Given the description of an element on the screen output the (x, y) to click on. 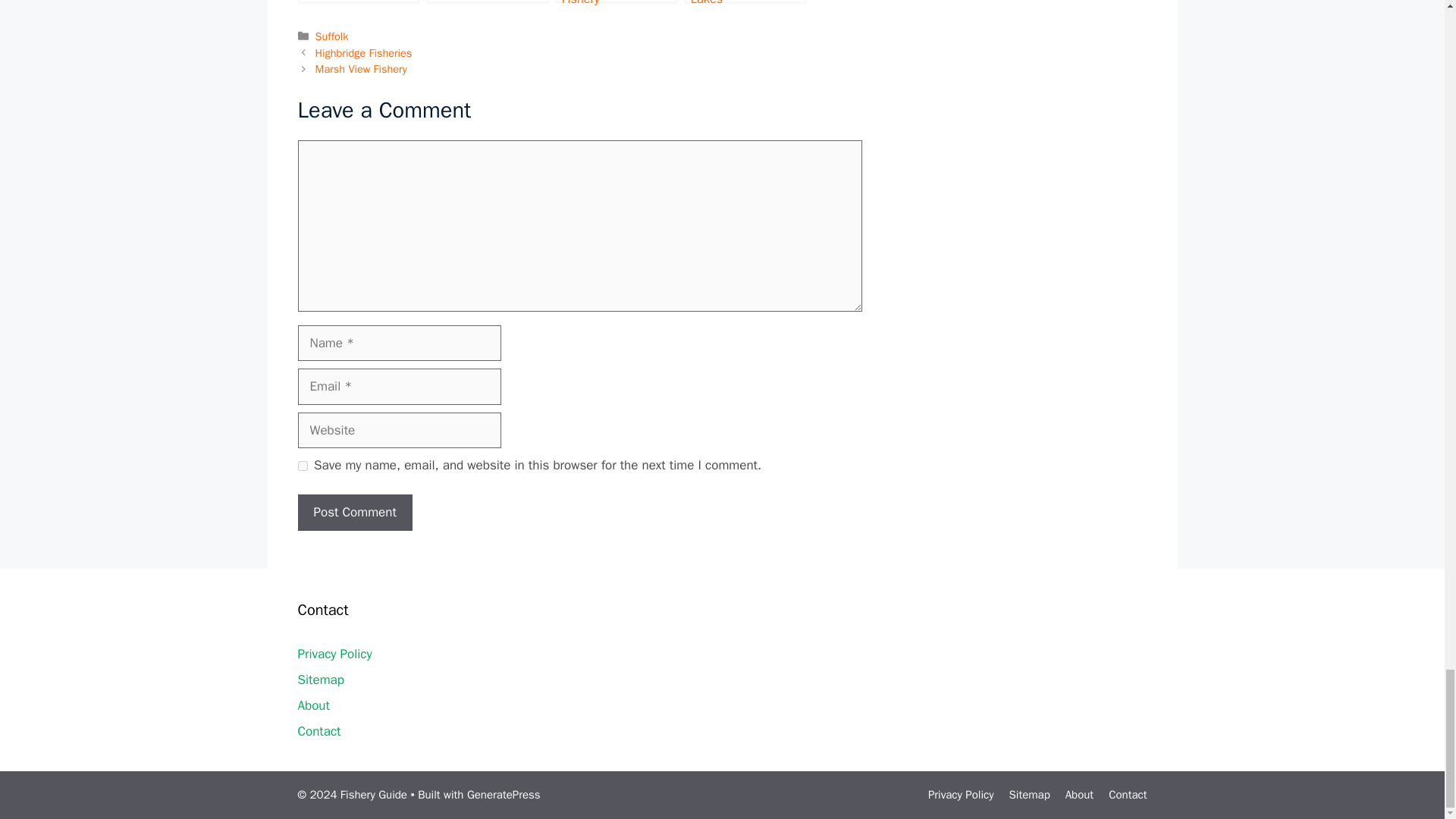
yes (302, 465)
Hawstead Fishing Lakes (745, 1)
Jeagor Farm Lakes (358, 1)
Whitebridge Farm Fishery (616, 1)
Kirton Hall Lake (487, 1)
Post Comment (354, 512)
